Given the description of an element on the screen output the (x, y) to click on. 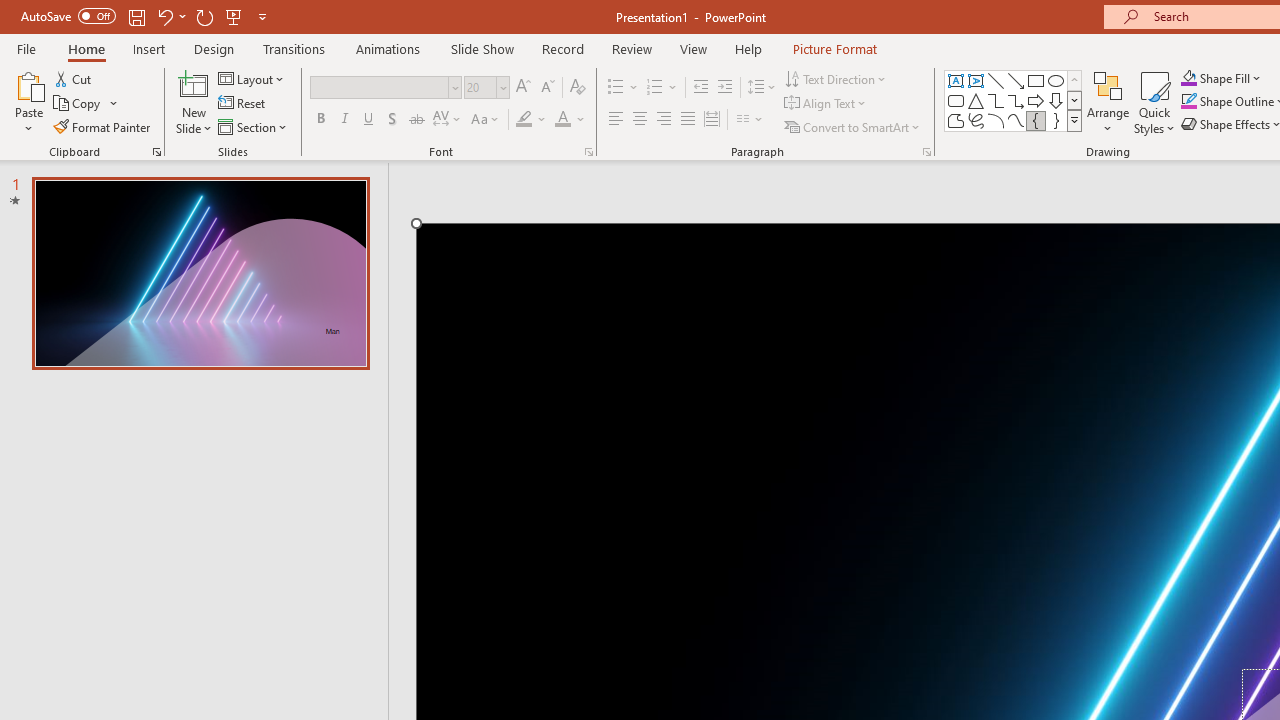
Shape Outline Blue, Accent 1 (1188, 101)
Shape Fill Orange, Accent 2 (1188, 78)
